Given the description of an element on the screen output the (x, y) to click on. 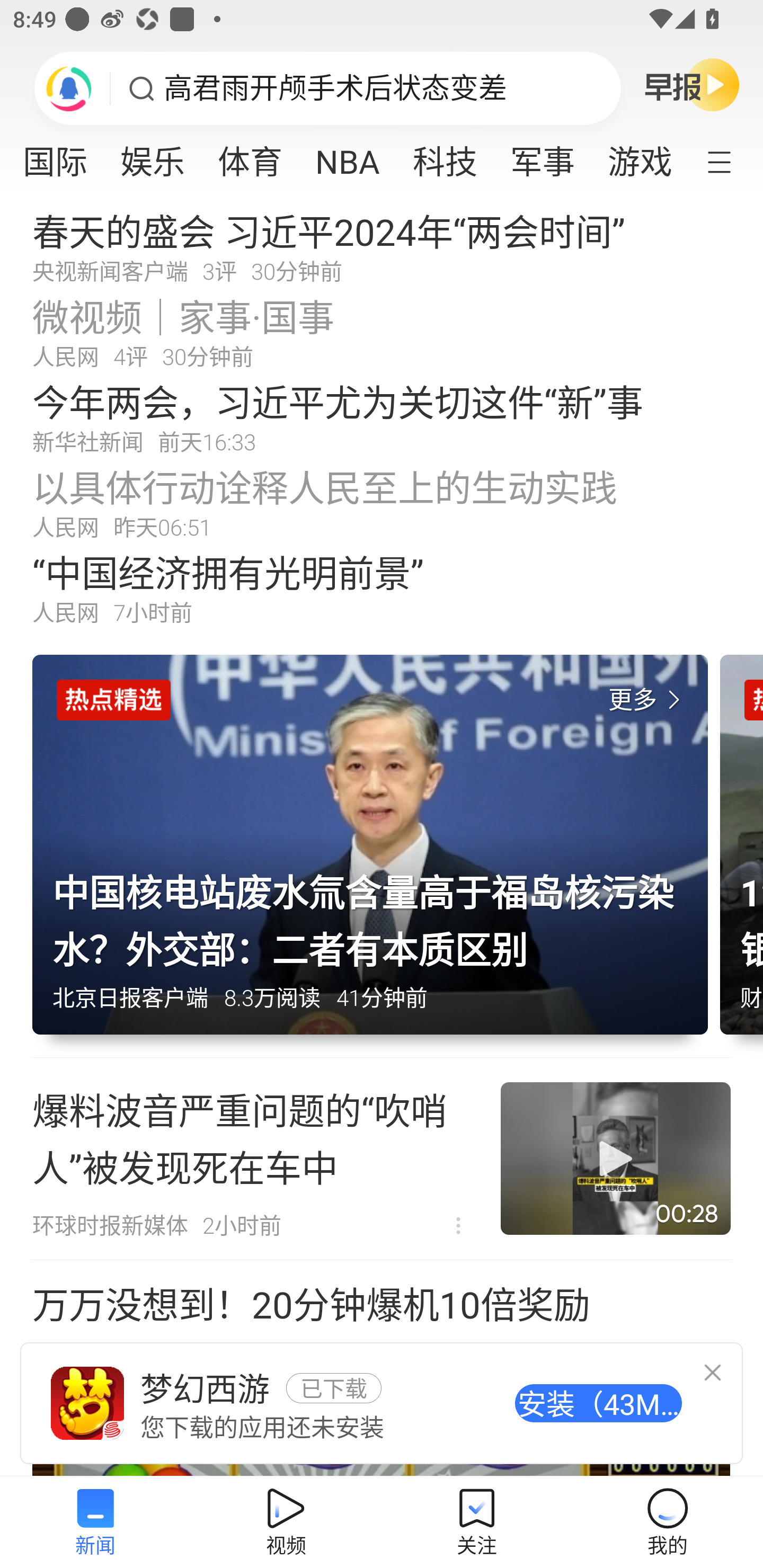
早晚报 (691, 84)
刷新 (68, 88)
高君雨开颅手术后状态变差 (335, 88)
国际 (59, 155)
娱乐 (152, 155)
体育 (250, 155)
NBA (347, 155)
科技 (444, 155)
军事 (542, 155)
游戏 (639, 155)
 定制频道 (731, 160)
春天的盛会 习近平2024年“两会时间” 央视新闻客户端 3评 30分钟前 (381, 245)
微视频｜家事·国事 人民网 4评 30分钟前 (381, 331)
今年两会，习近平尤为关切这件“新”事 新华社新闻 前天16:33 (381, 416)
以具体行动诠释人民至上的生动实践 人民网 昨天06:51 (381, 502)
“中国经济拥有光明前景” 人民网 7小时前 (381, 587)
更多  (648, 699)
爆料波音严重问题的“吹哨人”被发现死在车中 环球时报新媒体 2小时前  不感兴趣 00:28 (381, 1158)
 不感兴趣 (458, 1226)
万万没想到！20分钟爆机10倍奖励 (381, 1368)
